Given the description of an element on the screen output the (x, y) to click on. 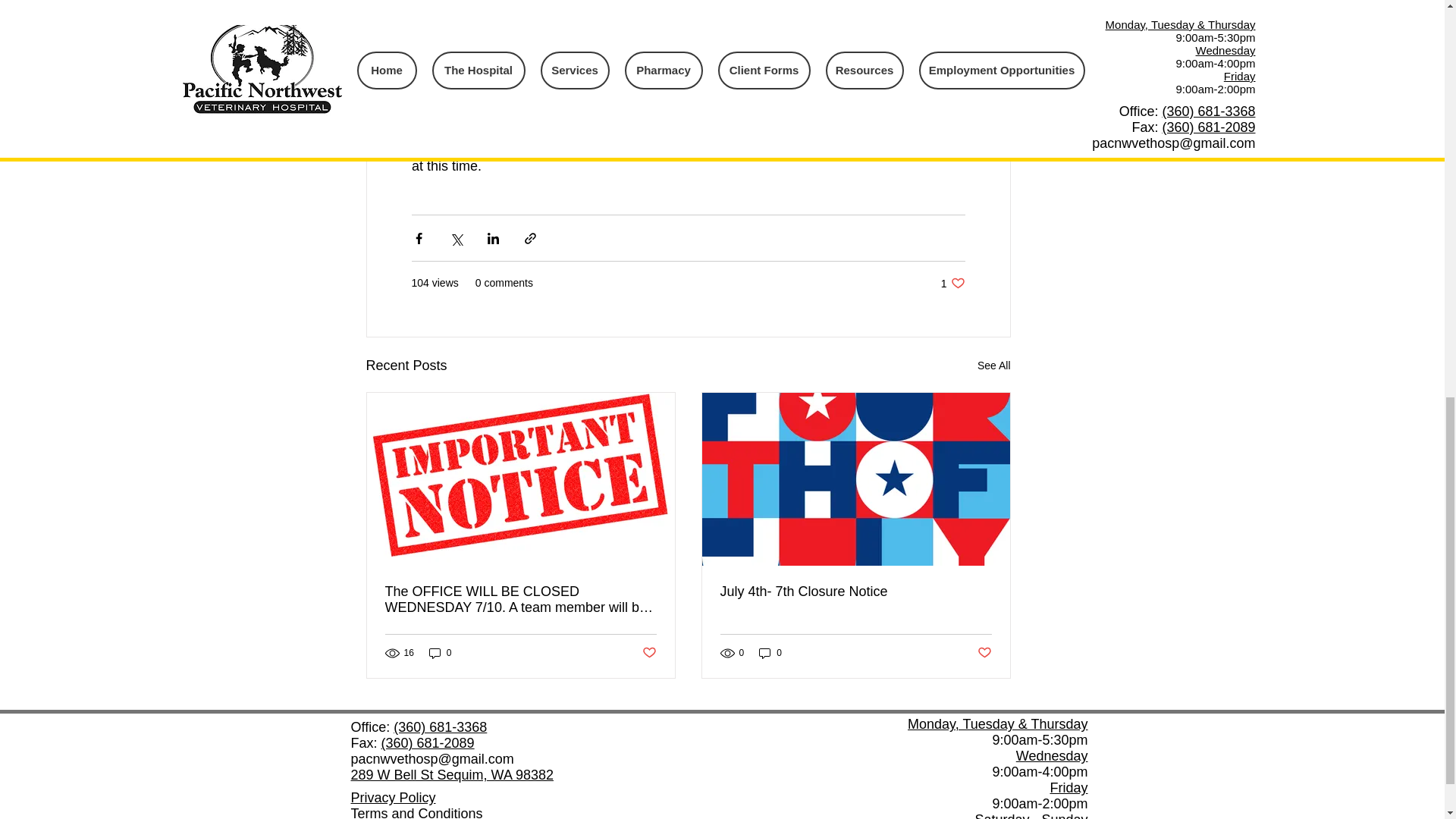
0 (770, 653)
289 W Bell St Sequim, WA 98382 (451, 774)
0 (440, 653)
See All (993, 365)
Privacy Policy (392, 797)
Post not marked as liked (983, 652)
July 4th- 7th Closure Notice (952, 283)
Post not marked as liked (855, 591)
